Given the description of an element on the screen output the (x, y) to click on. 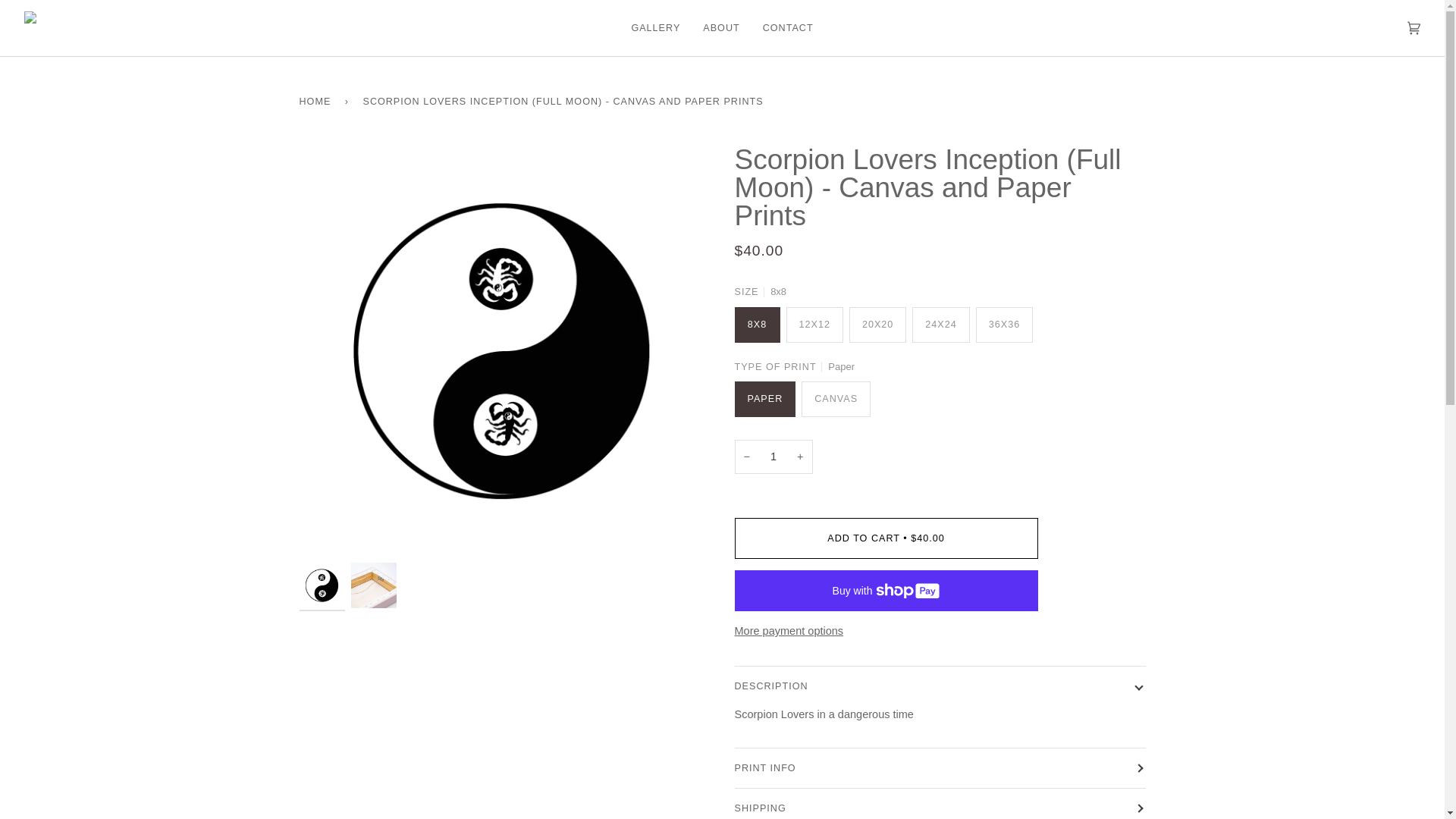
CONTACT (788, 28)
1 (772, 456)
GALLERY (655, 28)
Back to the frontpage (317, 100)
ABOUT (721, 28)
